Given the description of an element on the screen output the (x, y) to click on. 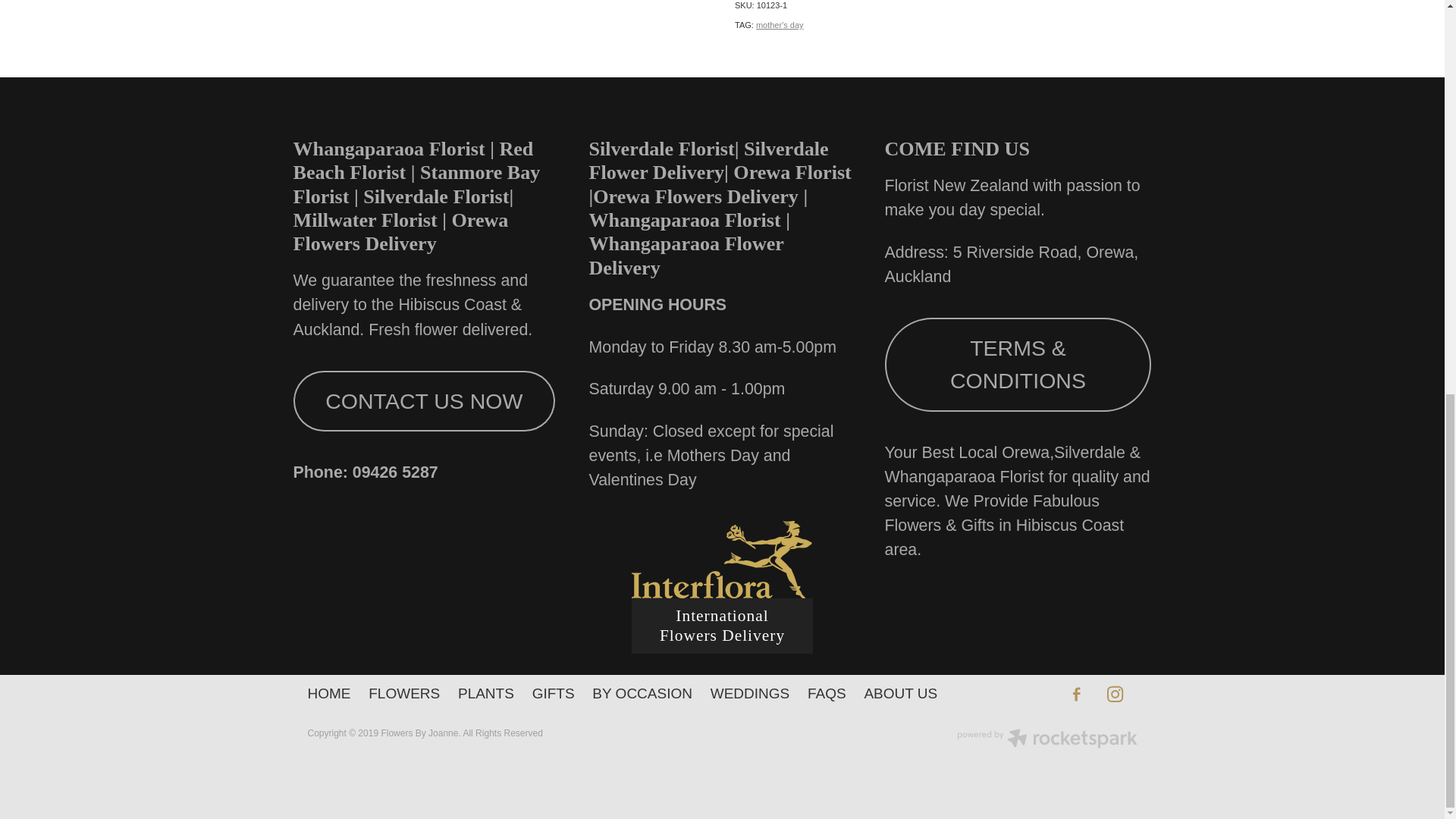
Rocketspark website builder (1046, 740)
A link to this website's Instagram. (1114, 694)
A link to this website's Facebook. (1076, 694)
